Given the description of an element on the screen output the (x, y) to click on. 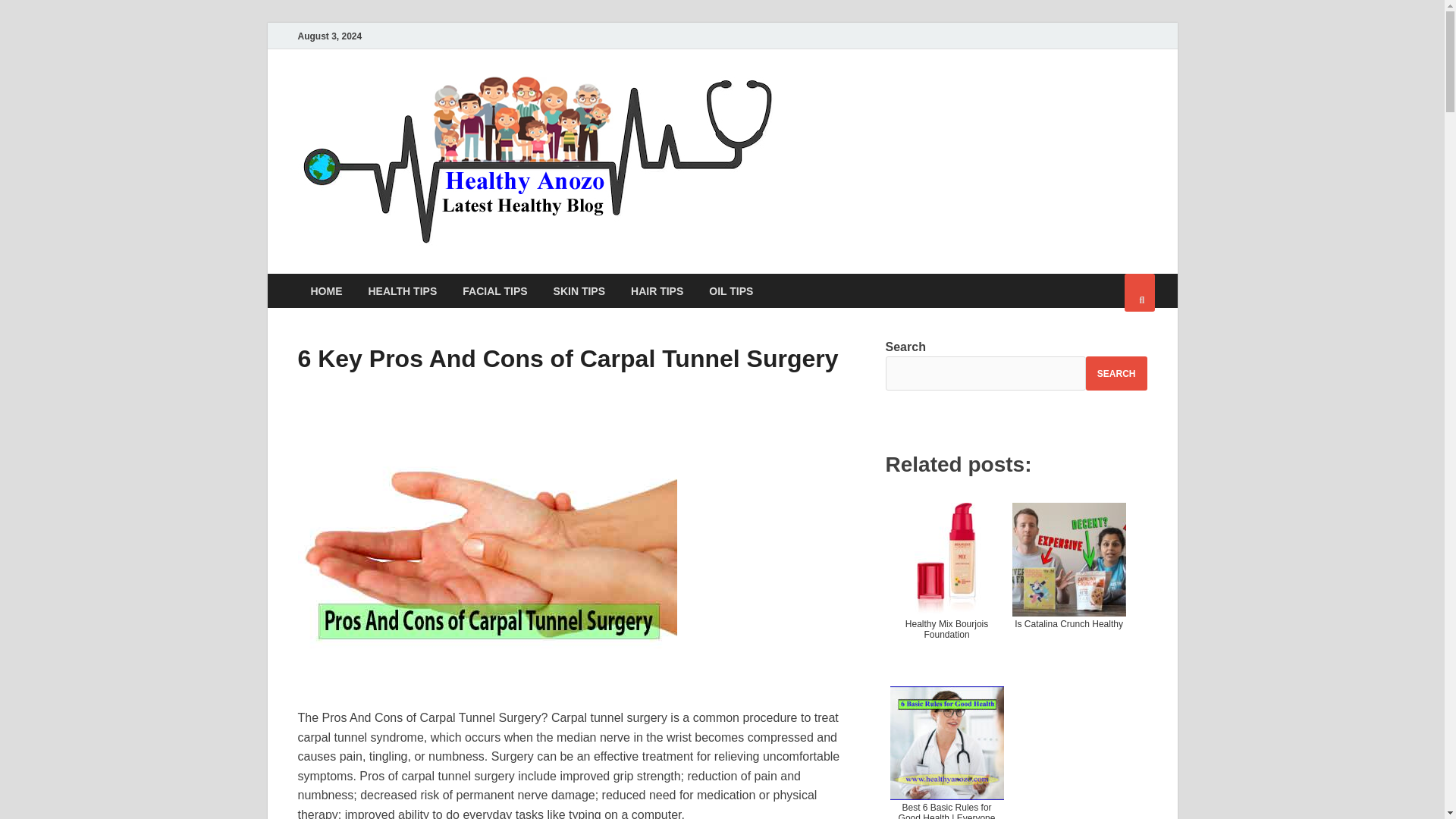
HAIR TIPS (656, 290)
OIL TIPS (730, 290)
FACIAL TIPS (494, 290)
Healthy Anozo (881, 100)
HOME (326, 290)
SKIN TIPS (578, 290)
HEALTH TIPS (402, 290)
